Given the description of an element on the screen output the (x, y) to click on. 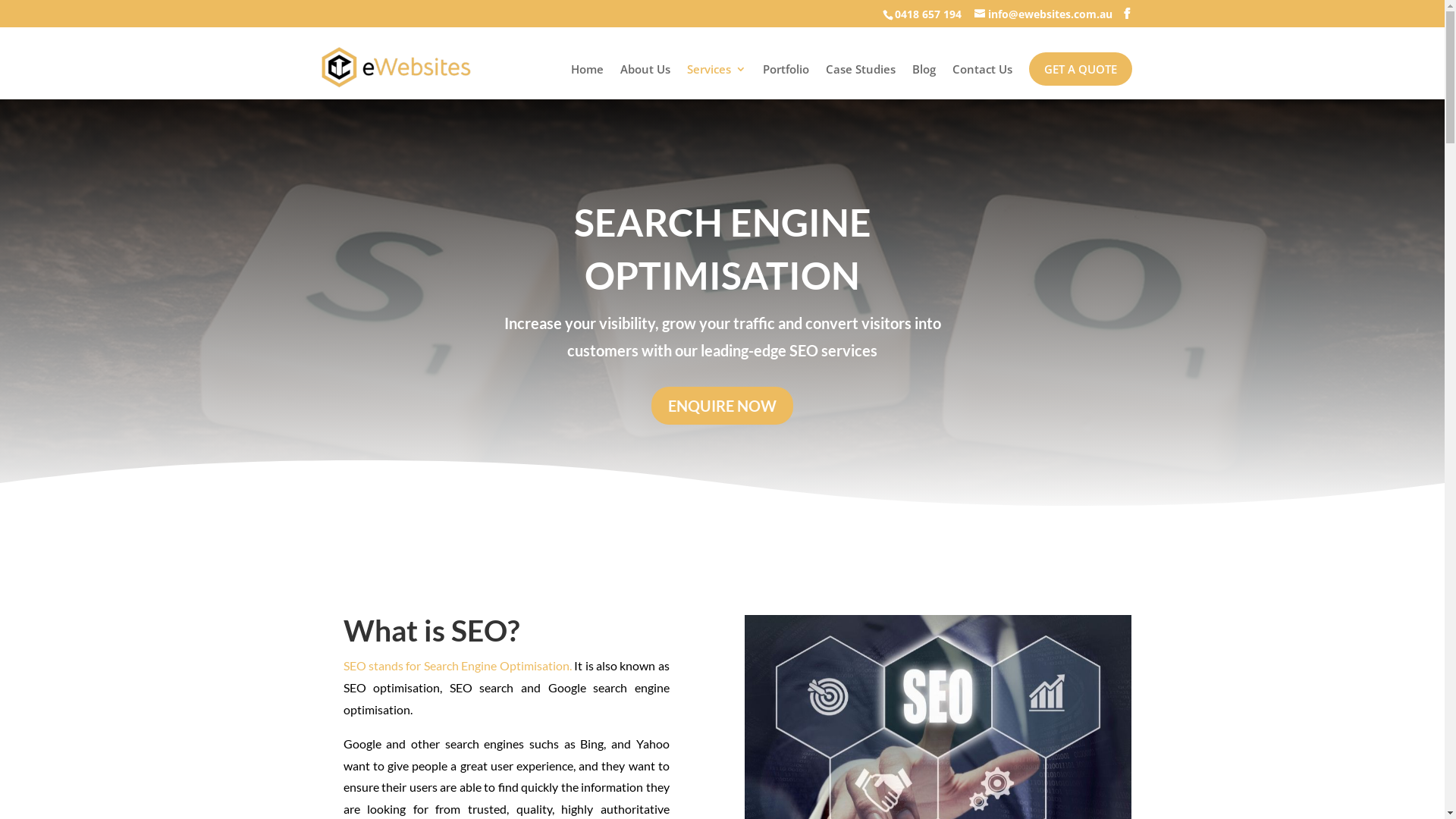
info@ewebsites.com.au Element type: text (1042, 13)
Contact Us Element type: text (982, 81)
About Us Element type: text (645, 81)
ENQUIRE NOW Element type: text (722, 405)
Portfolio Element type: text (785, 81)
Services Element type: text (716, 81)
SEO stands for Search Engine Optimisation. Element type: text (456, 665)
Home Element type: text (586, 81)
0418 657 194 Element type: text (927, 13)
Blog Element type: text (923, 81)
Case Studies Element type: text (859, 81)
GET A QUOTE Element type: text (1079, 68)
